Given the description of an element on the screen output the (x, y) to click on. 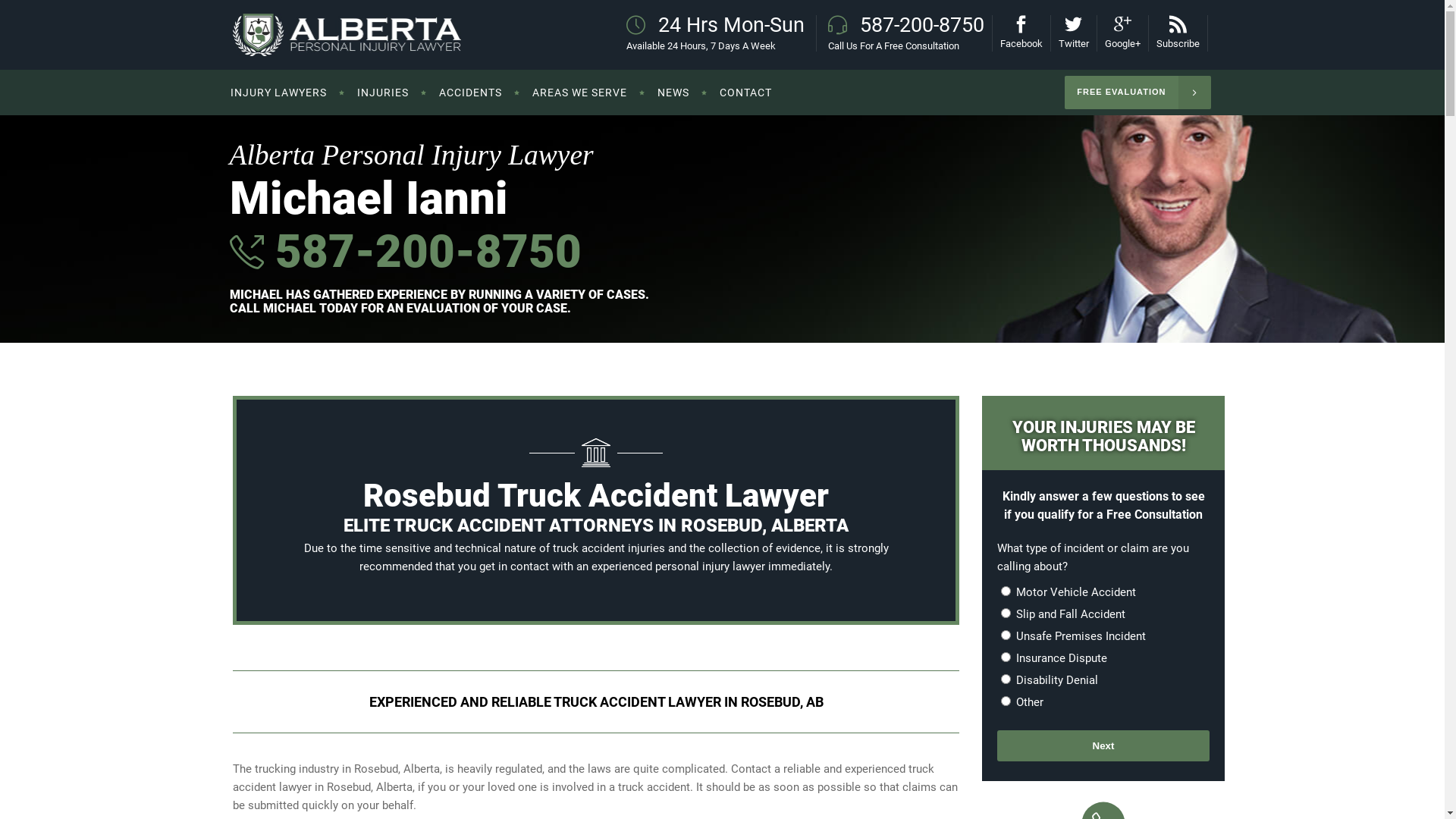
NEWS Element type: text (672, 92)
FREE EVALUATION Element type: text (1137, 92)
587-200-8750 Element type: text (422, 251)
CONTACT Element type: text (744, 92)
INJURIES Element type: text (382, 92)
AREAS WE SERVE Element type: text (579, 92)
personal injury lawyer Element type: text (710, 566)
INJURY LAWYERS Element type: text (286, 92)
Next Element type: text (1103, 745)
FREE EVALUATION Element type: text (1137, 92)
ACCIDENTS Element type: text (469, 92)
